Given the description of an element on the screen output the (x, y) to click on. 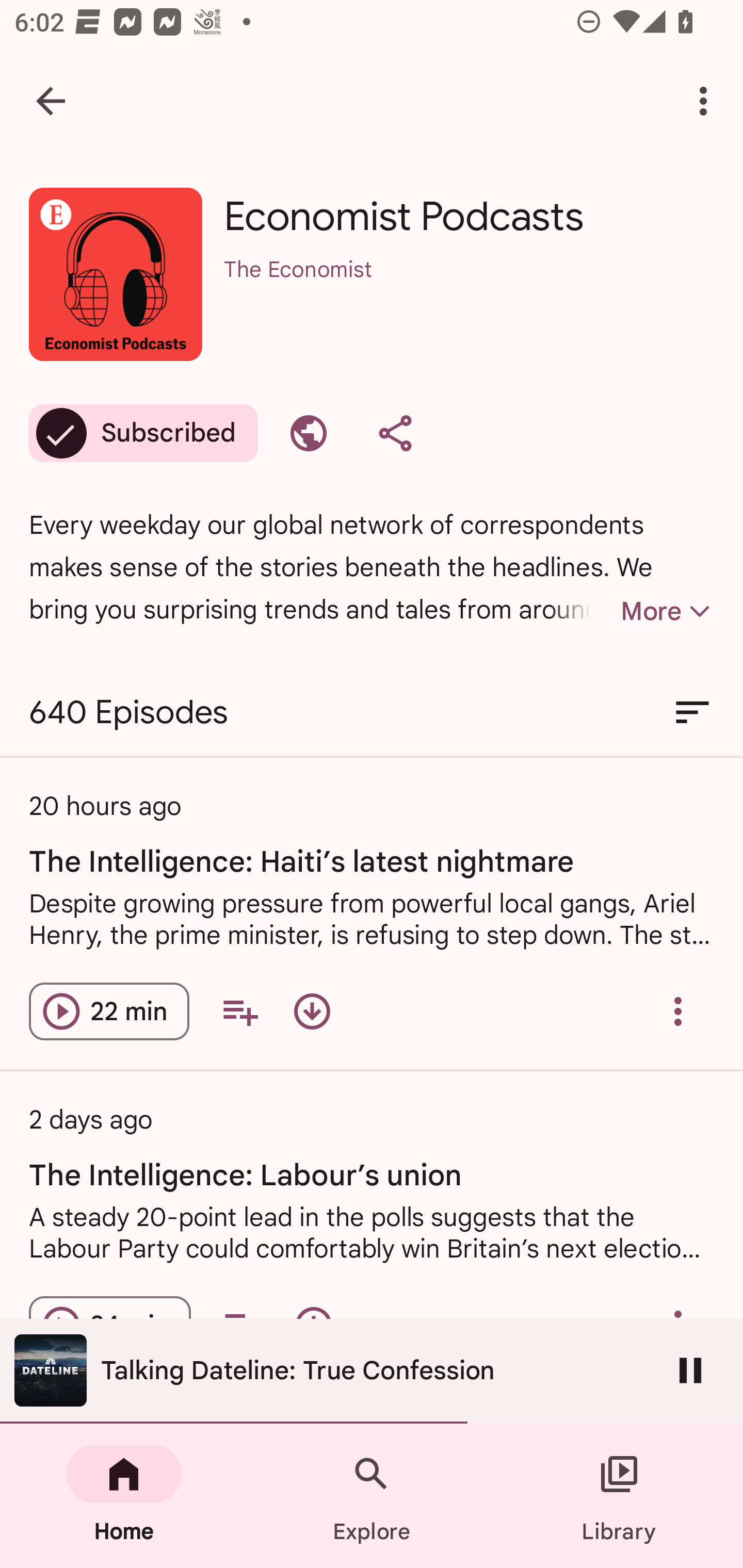
Navigate up (50, 101)
More options (706, 101)
The Economist (468, 295)
Subscribed (142, 433)
Visit website (308, 433)
Share (395, 433)
More (631, 610)
Sort (692, 712)
Add to your queue (239, 1011)
Download episode (312, 1011)
Overflow menu (677, 1011)
Pause (690, 1370)
Explore (371, 1495)
Library (619, 1495)
